Given the description of an element on the screen output the (x, y) to click on. 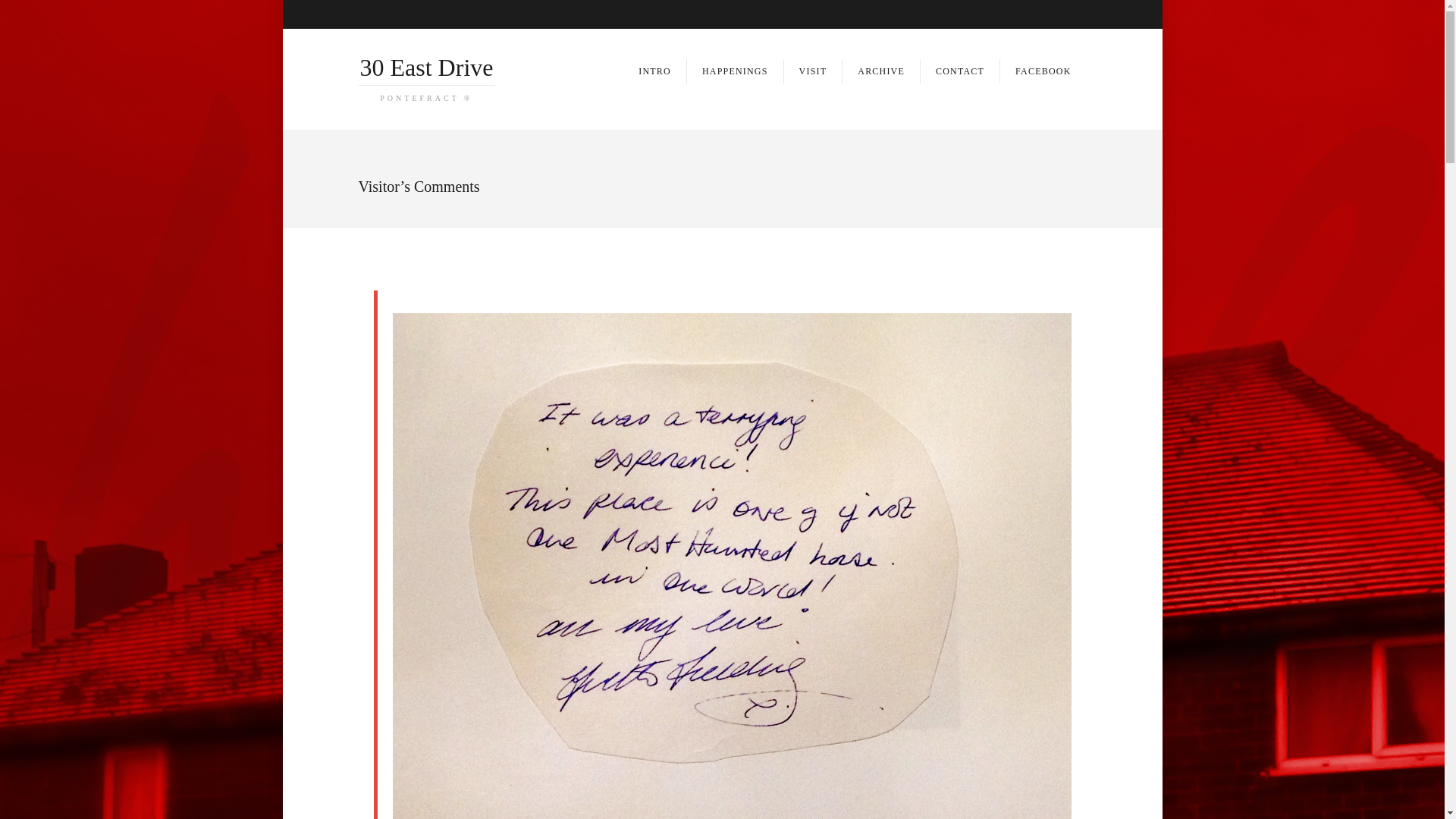
ARCHIVE Element type: text (881, 70)
VISIT Element type: text (813, 70)
HAPPENINGS Element type: text (735, 70)
INTRO Element type: text (655, 70)
CONTACT Element type: text (960, 70)
FACEBOOK Element type: text (1042, 70)
